Given the description of an element on the screen output the (x, y) to click on. 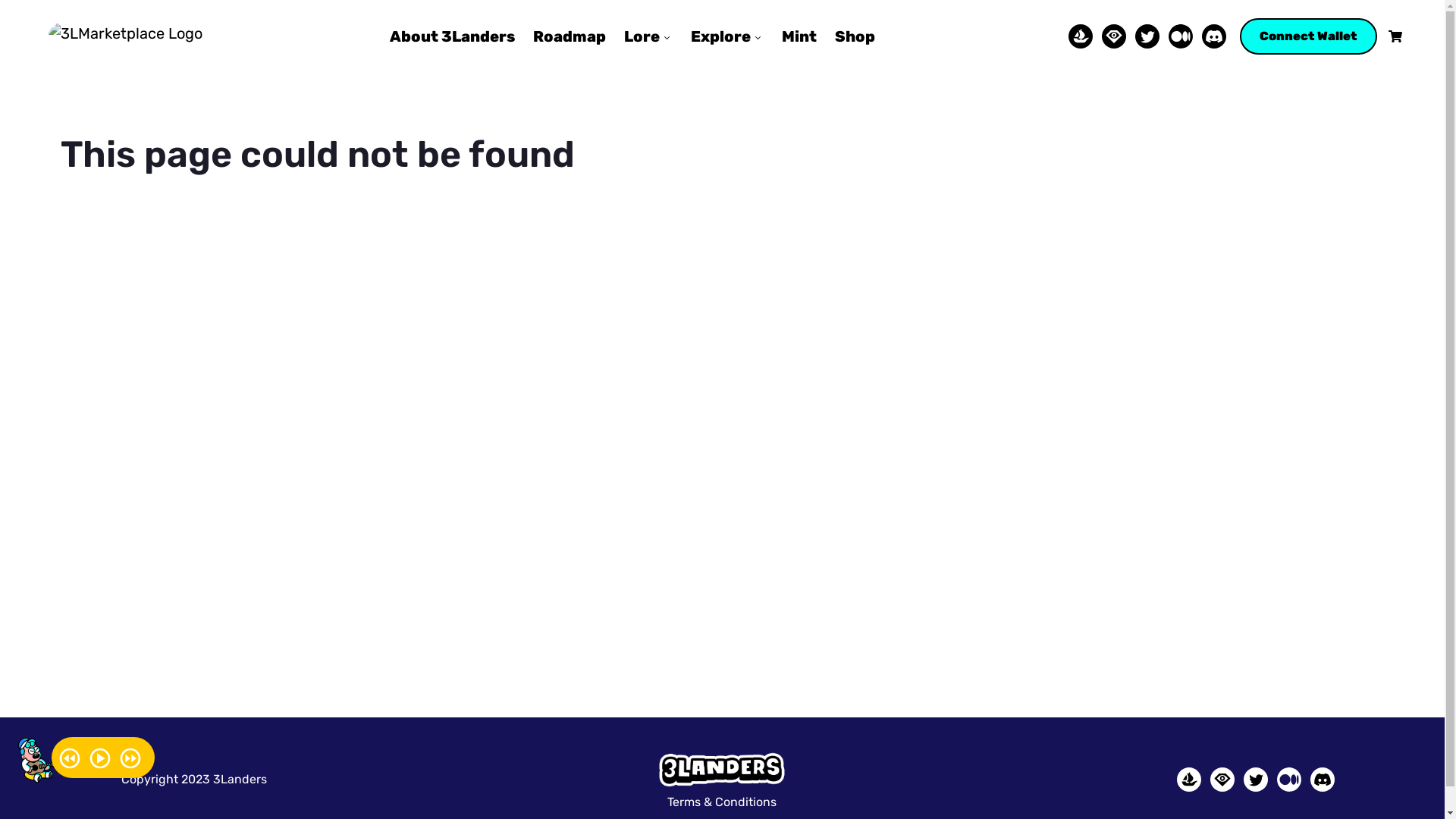
About 3Landers Element type: text (452, 36)
Lore Element type: text (648, 36)
Connect Wallet Element type: text (1308, 36)
Mint Element type: text (798, 36)
Terms & Conditions Element type: text (721, 802)
Shop Element type: text (854, 36)
Roadmap Element type: text (569, 36)
Explore Element type: text (726, 36)
